Given the description of an element on the screen output the (x, y) to click on. 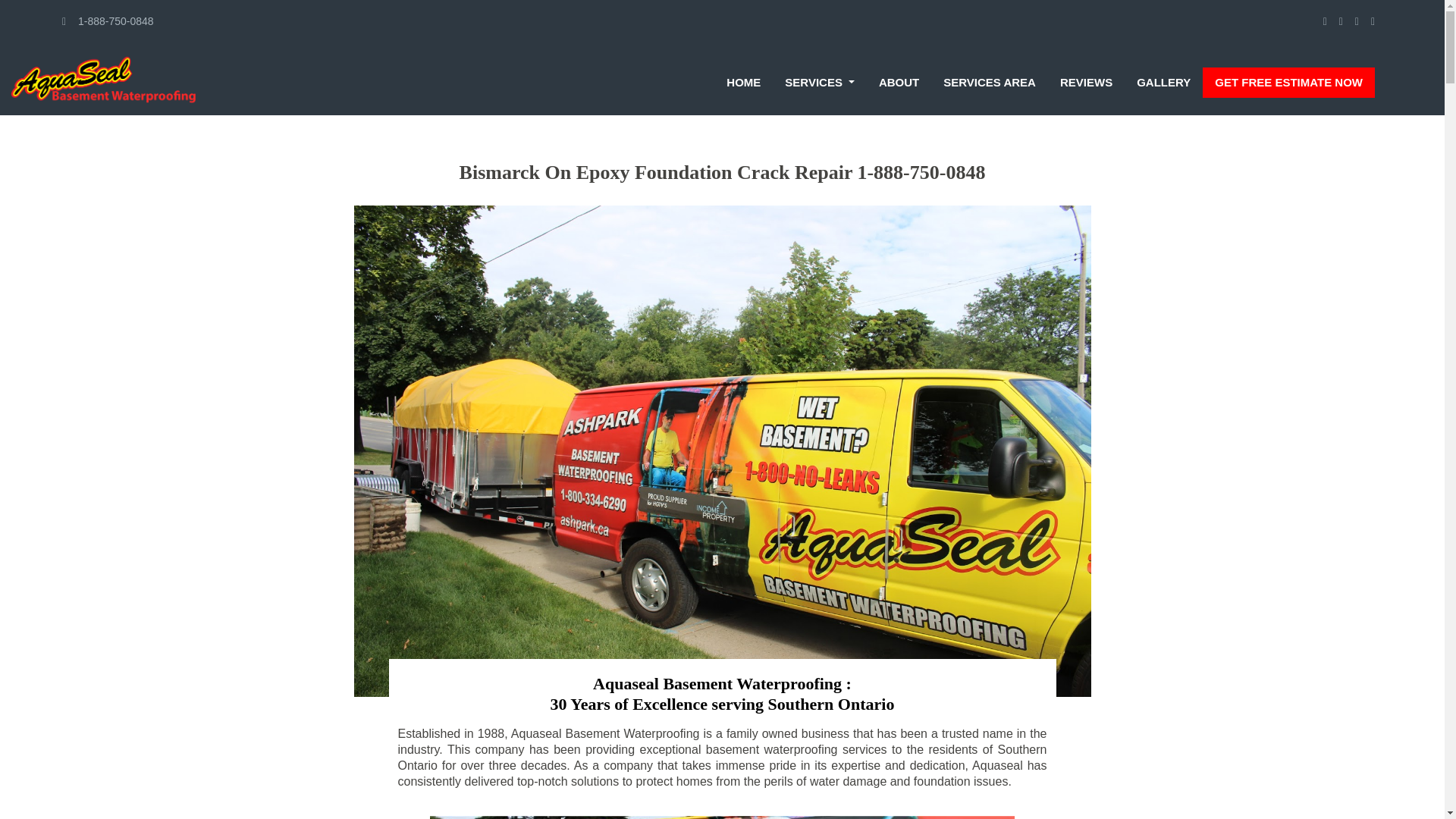
REVIEWS (1086, 82)
SERVICES (819, 82)
ABOUT (898, 82)
SERVICES AREA (989, 82)
HOME (743, 82)
GET FREE ESTIMATE NOW (1288, 82)
GALLERY (1163, 82)
